Given the description of an element on the screen output the (x, y) to click on. 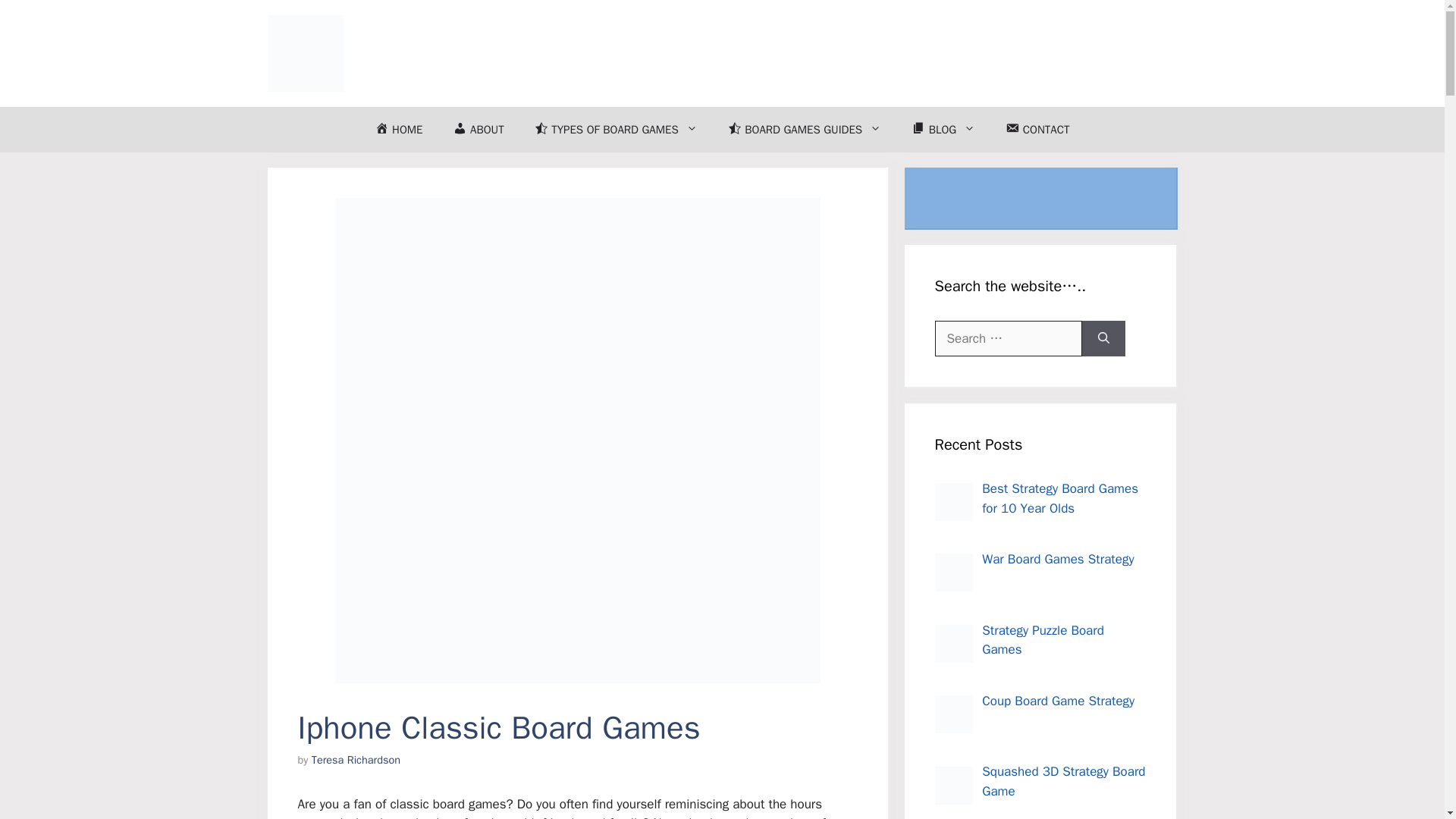
View all posts by Teresa Richardson (355, 759)
